Given the description of an element on the screen output the (x, y) to click on. 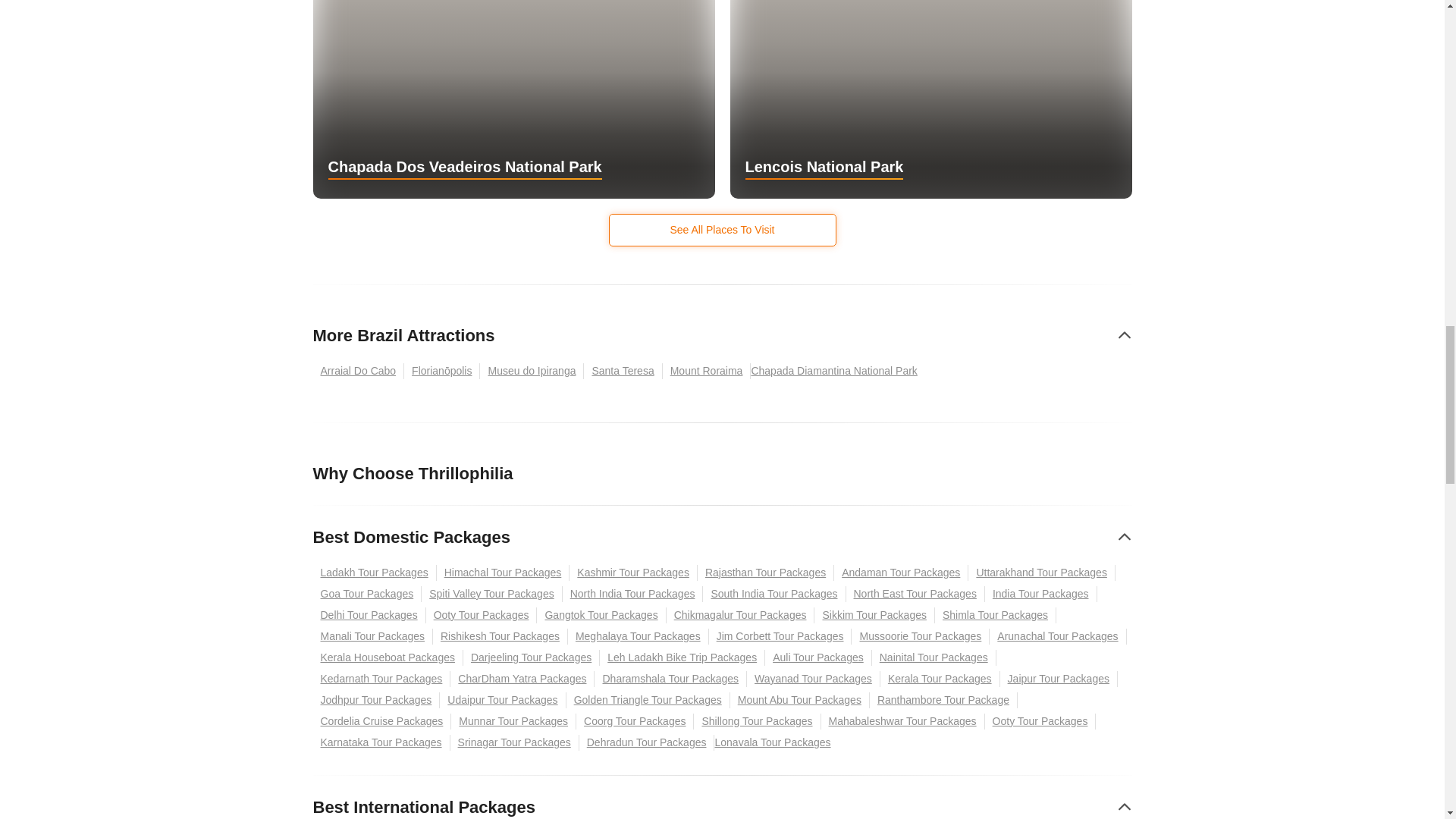
Kashmir Tour Packages (633, 572)
Meghalaya Tour Packages (638, 636)
North India Tour Packages (632, 593)
South India Tour Packages (774, 593)
Chapada Diamantina National Park (837, 371)
Rajasthan Tour Packages (765, 572)
Uttarakhand Tour Packages (1041, 572)
Ooty Tour Packages (481, 615)
Goa Tour Packages (367, 593)
Manali Tour Packages (372, 636)
